Given the description of an element on the screen output the (x, y) to click on. 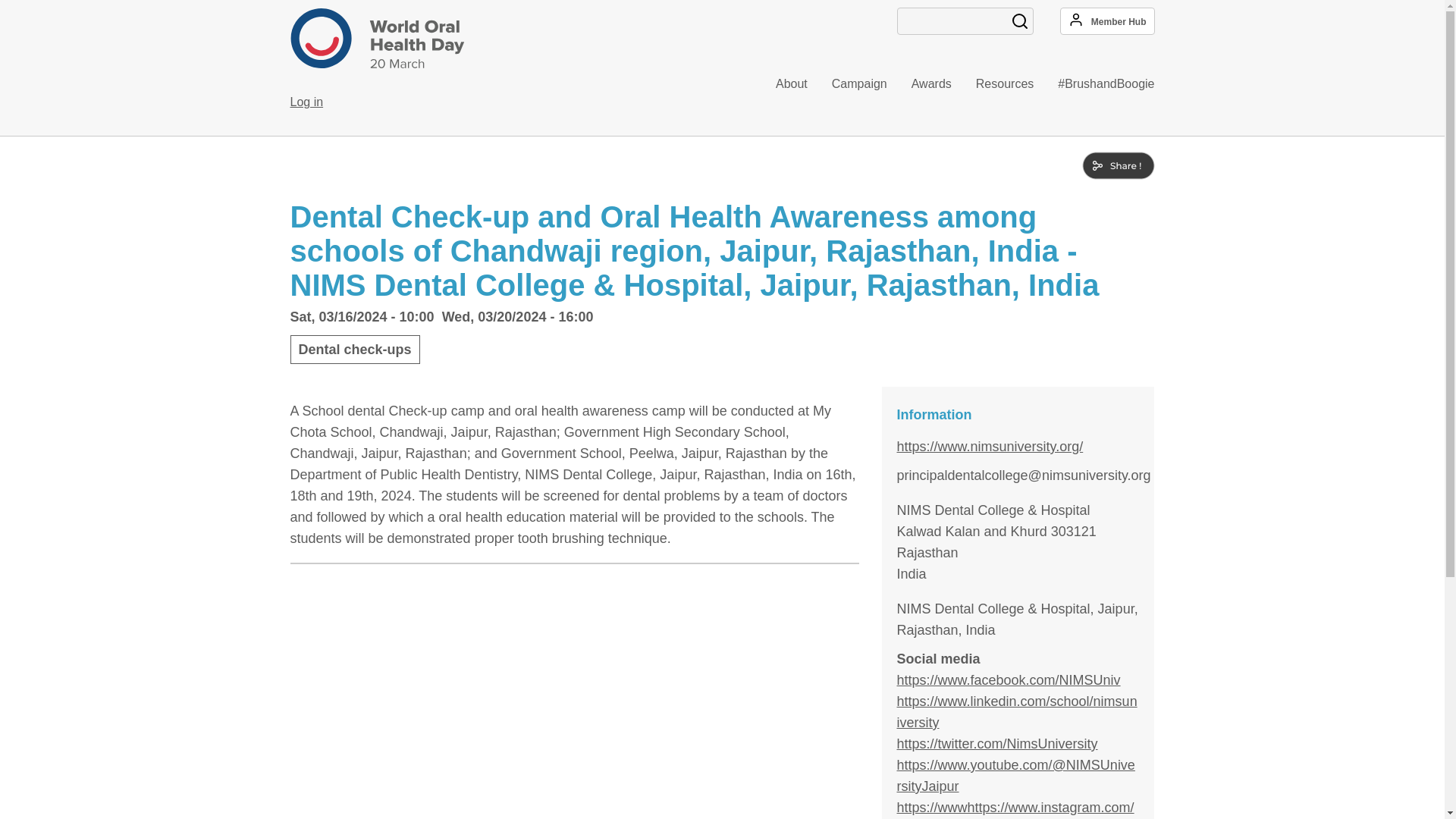
Member Hub (1106, 21)
About (779, 83)
Enter the terms you wish to search for. (964, 21)
Search (1019, 21)
Resources (992, 83)
Search (1019, 21)
Awards (919, 83)
Campaign (847, 83)
Member Hub (1106, 21)
Log in (306, 101)
